Given the description of an element on the screen output the (x, y) to click on. 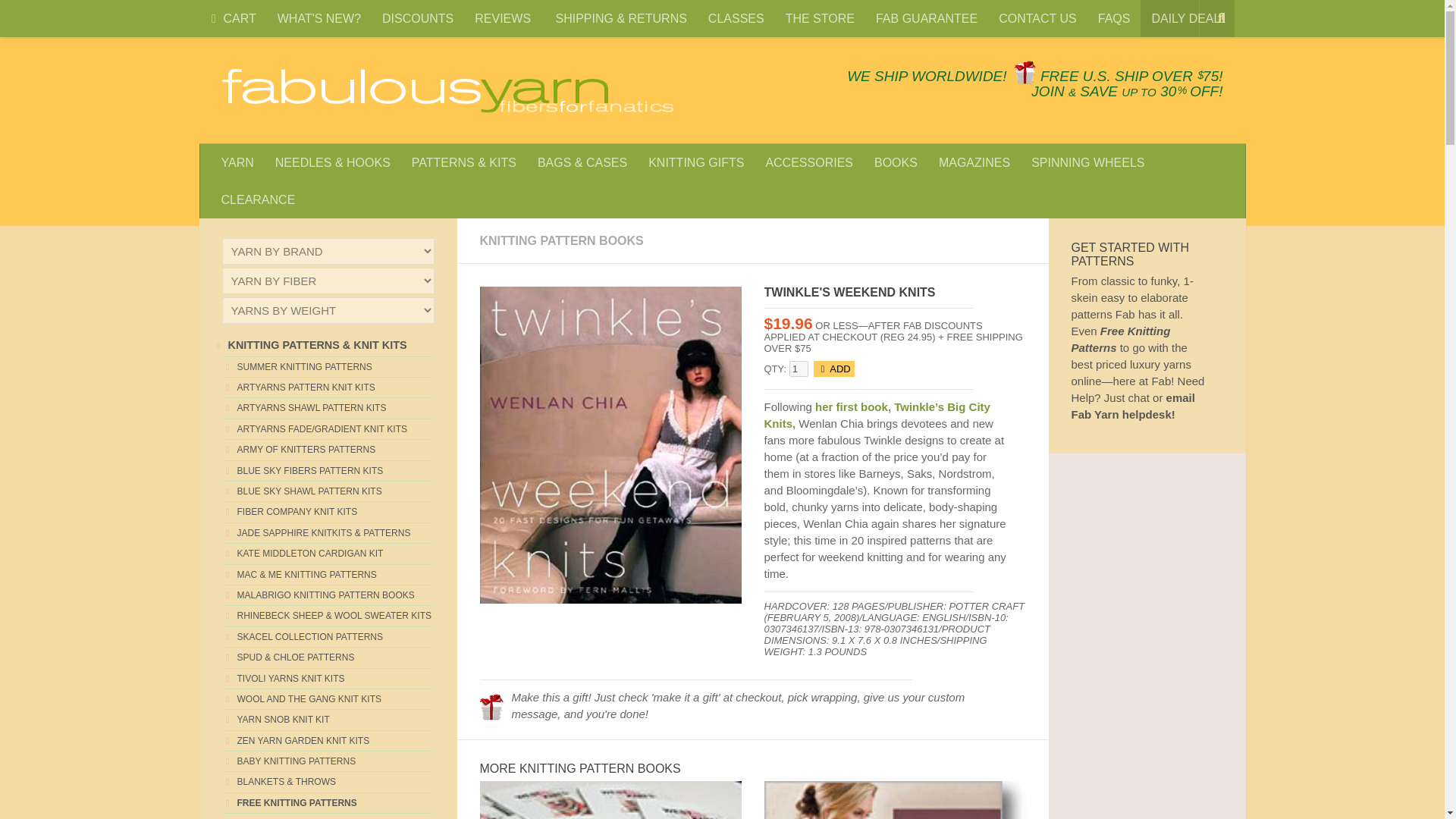
WE SHIP WORLDWIDE! (926, 75)
WHAT'S NEW? (318, 18)
DAILY DEAL! (1186, 18)
THE STORE (819, 18)
CART (231, 18)
SPINNING WHEELS (1087, 162)
KNITTING GIFTS (695, 162)
Great Knitter's Gift! (491, 706)
REVIEWS (504, 18)
YARN (237, 162)
